Given the description of an element on the screen output the (x, y) to click on. 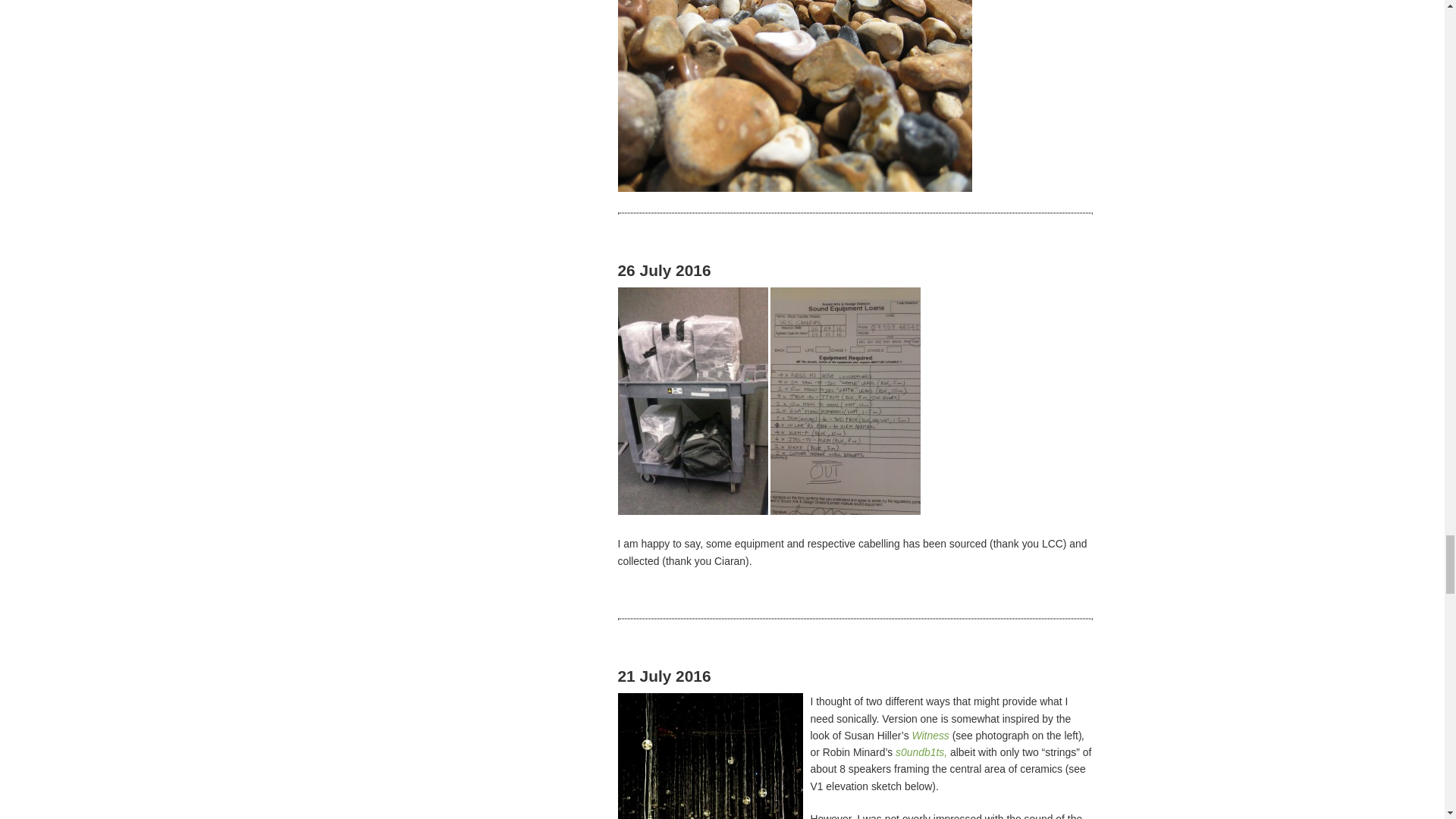
s0undb1ts, (922, 752)
Witness (930, 735)
